Given the description of an element on the screen output the (x, y) to click on. 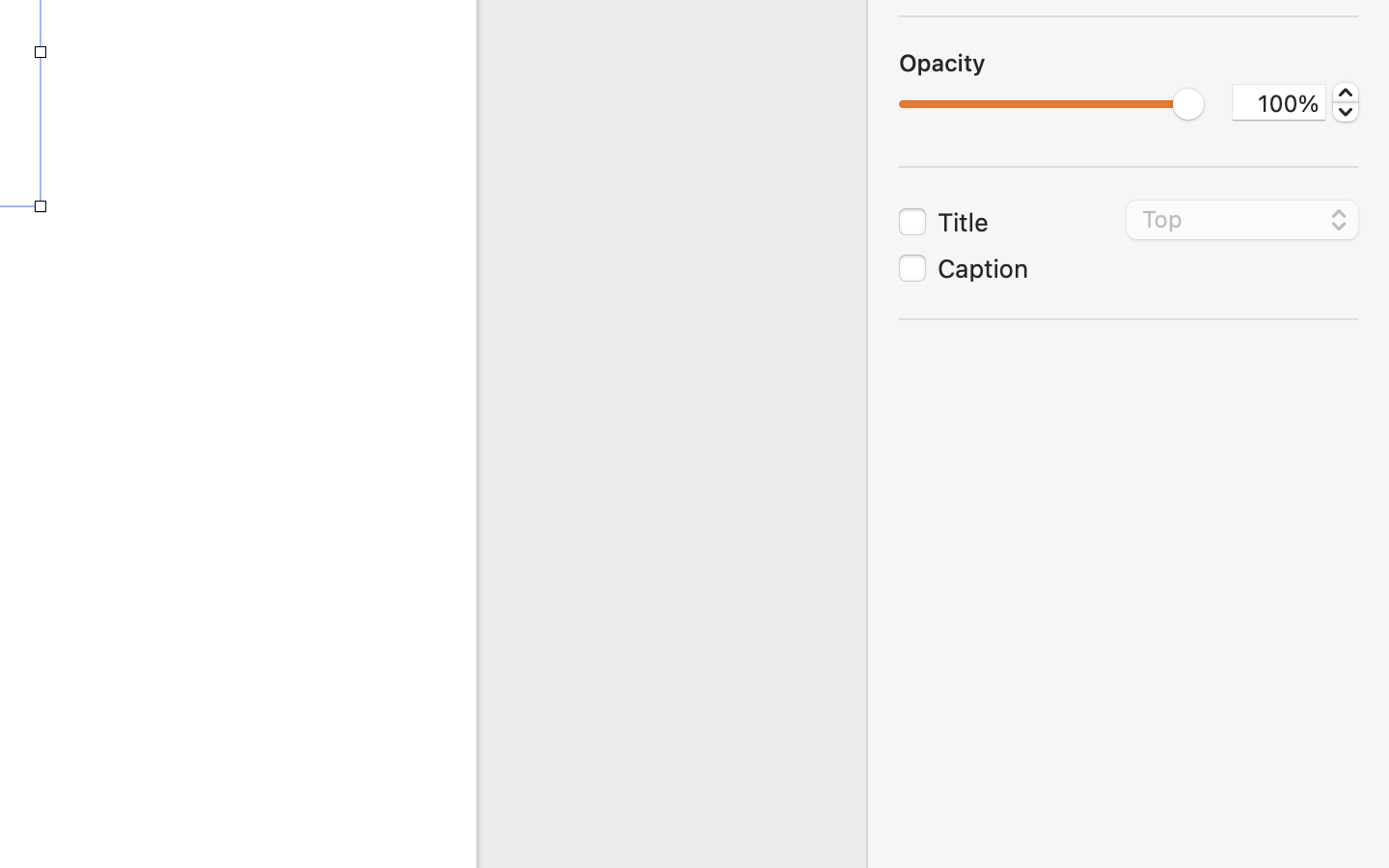
Opacity Element type: AXStaticText (942, 62)
